Given the description of an element on the screen output the (x, y) to click on. 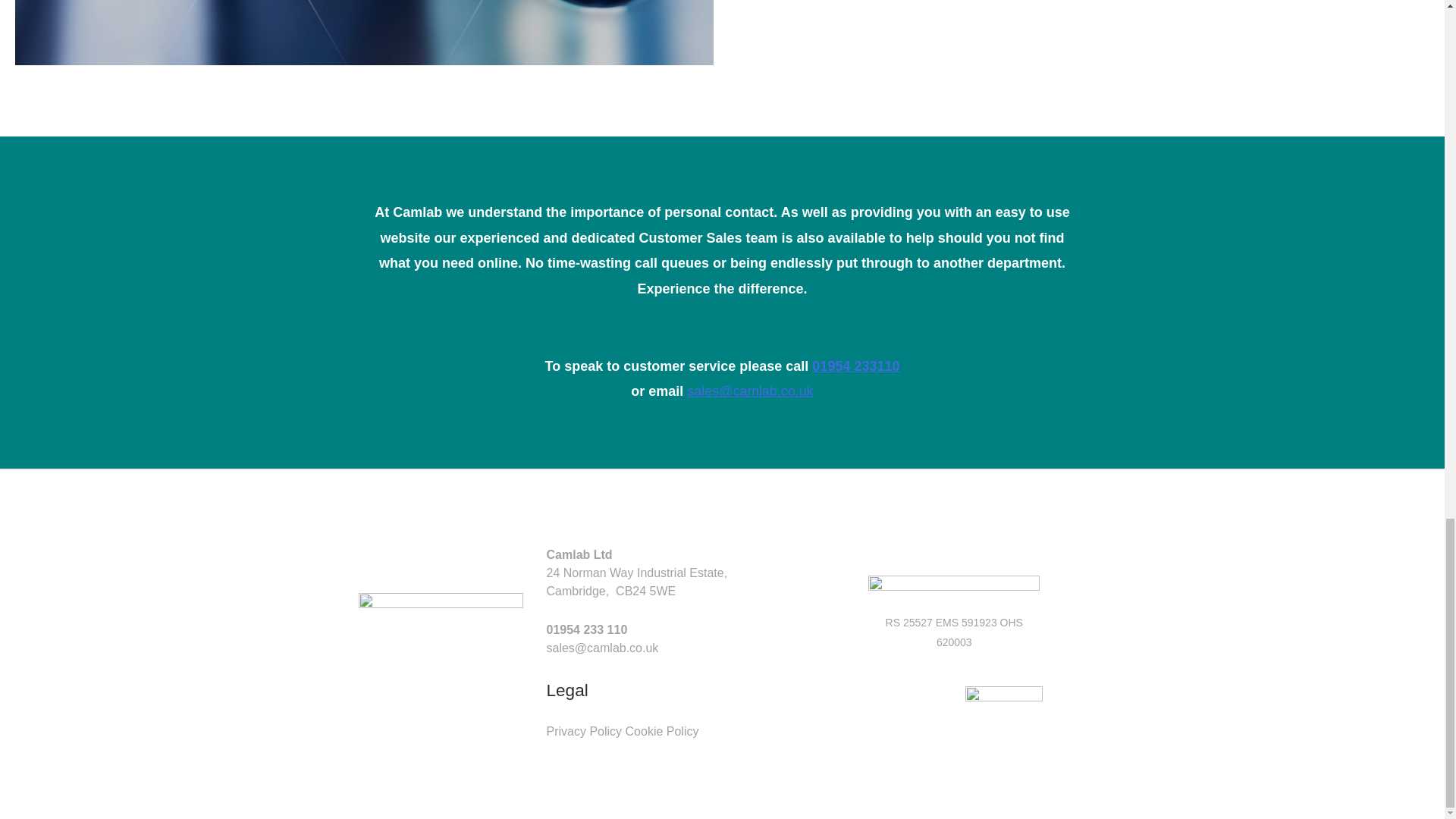
Privacy Policy  (583, 730)
Cookie Policy  (662, 730)
